Given the description of an element on the screen output the (x, y) to click on. 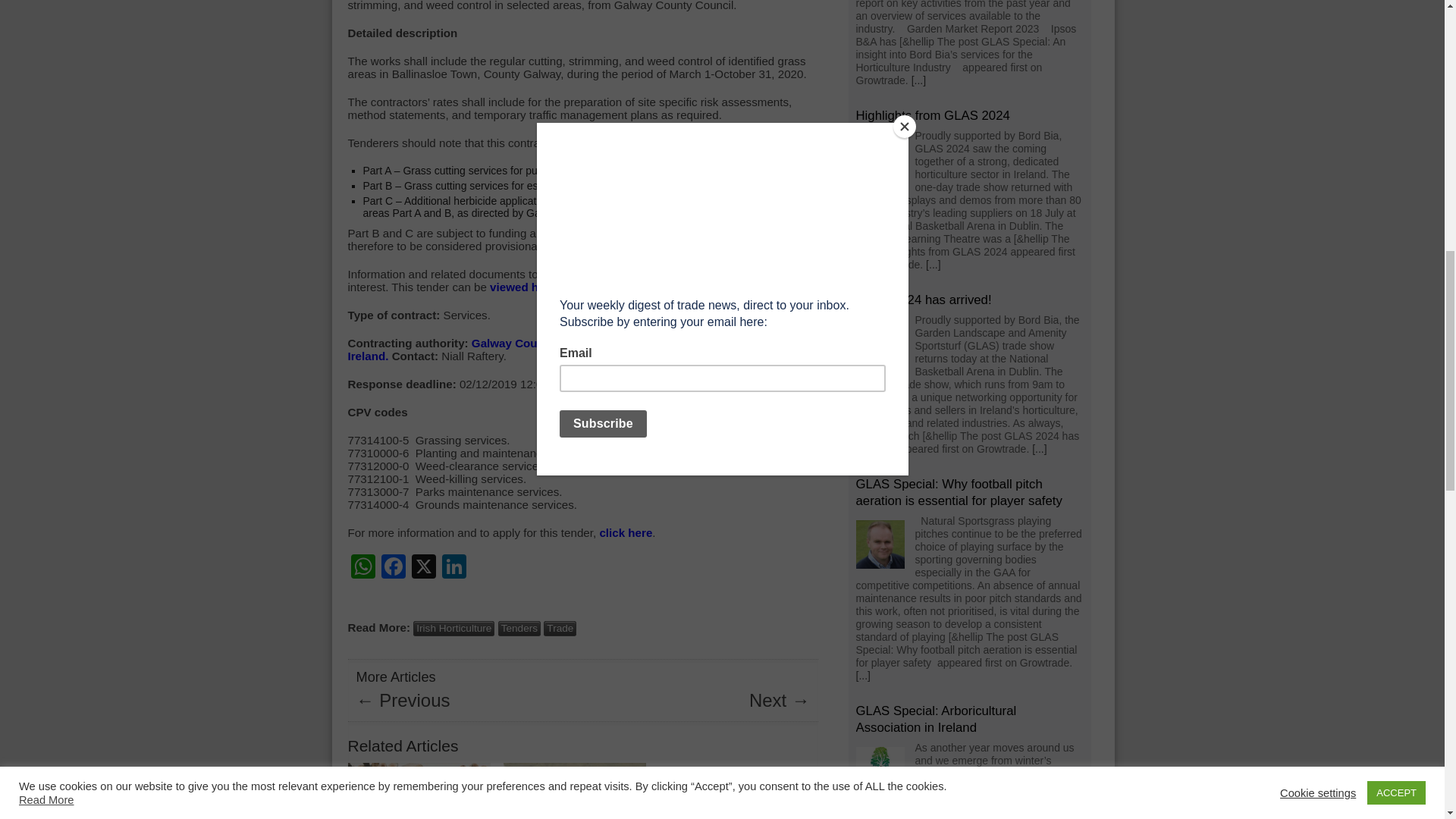
Read more (862, 675)
Trade (559, 628)
Read more (1039, 449)
X (422, 568)
WhatsApp (362, 568)
click here (625, 532)
Facebook (392, 568)
GLAS 2024 has arrived! (923, 299)
viewed here (522, 286)
Tenders (518, 628)
Read more (918, 80)
LinkedIn (453, 568)
